Given the description of an element on the screen output the (x, y) to click on. 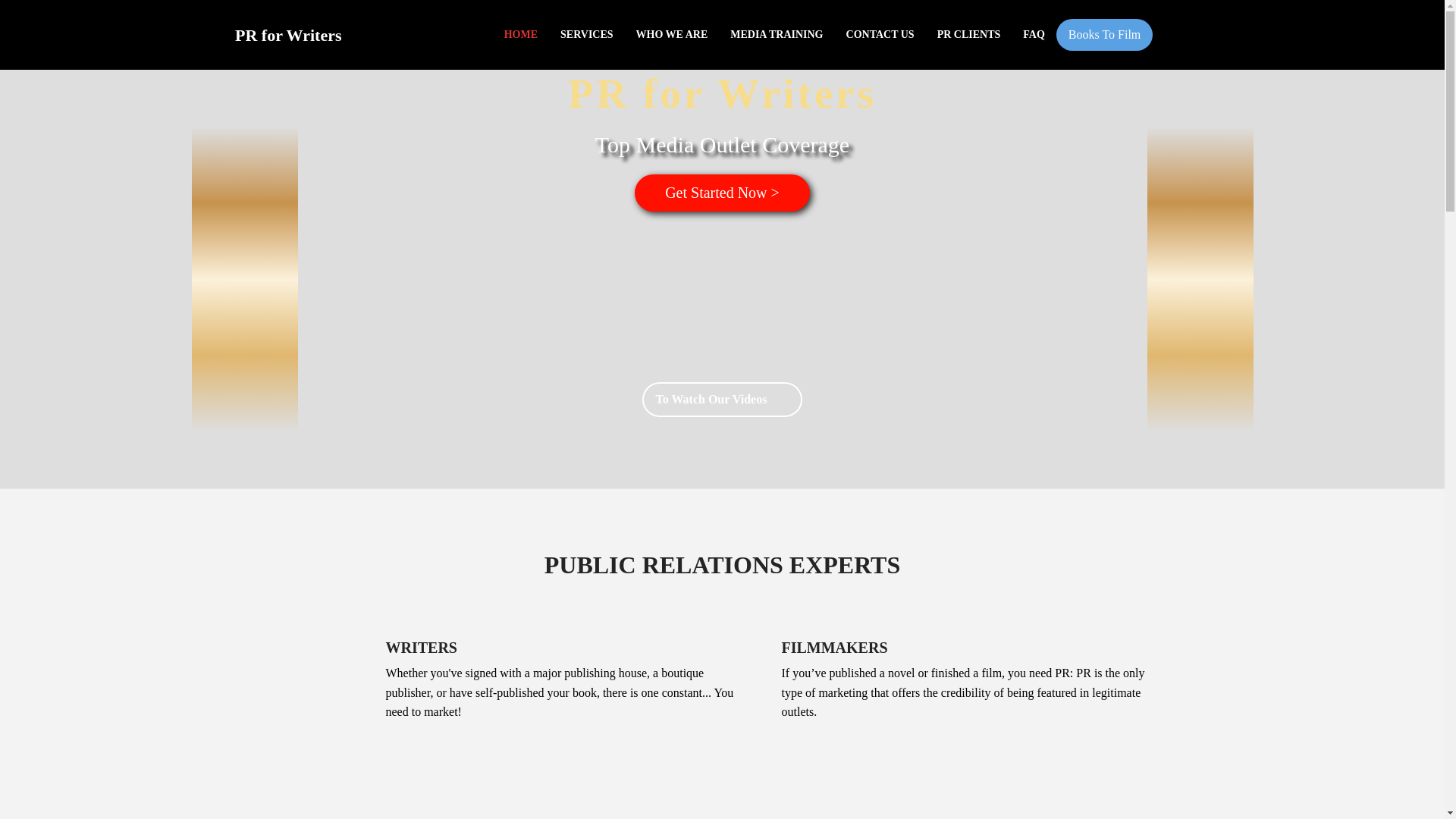
MEDIA TRAINING (776, 34)
Books To Film (1105, 34)
PR CLIENTS (968, 34)
SERVICES (586, 34)
WHO WE ARE (671, 34)
FAQ (1034, 34)
To Watch Our Videos (722, 399)
HOME (520, 34)
CONTACT US (880, 34)
